Given the description of an element on the screen output the (x, y) to click on. 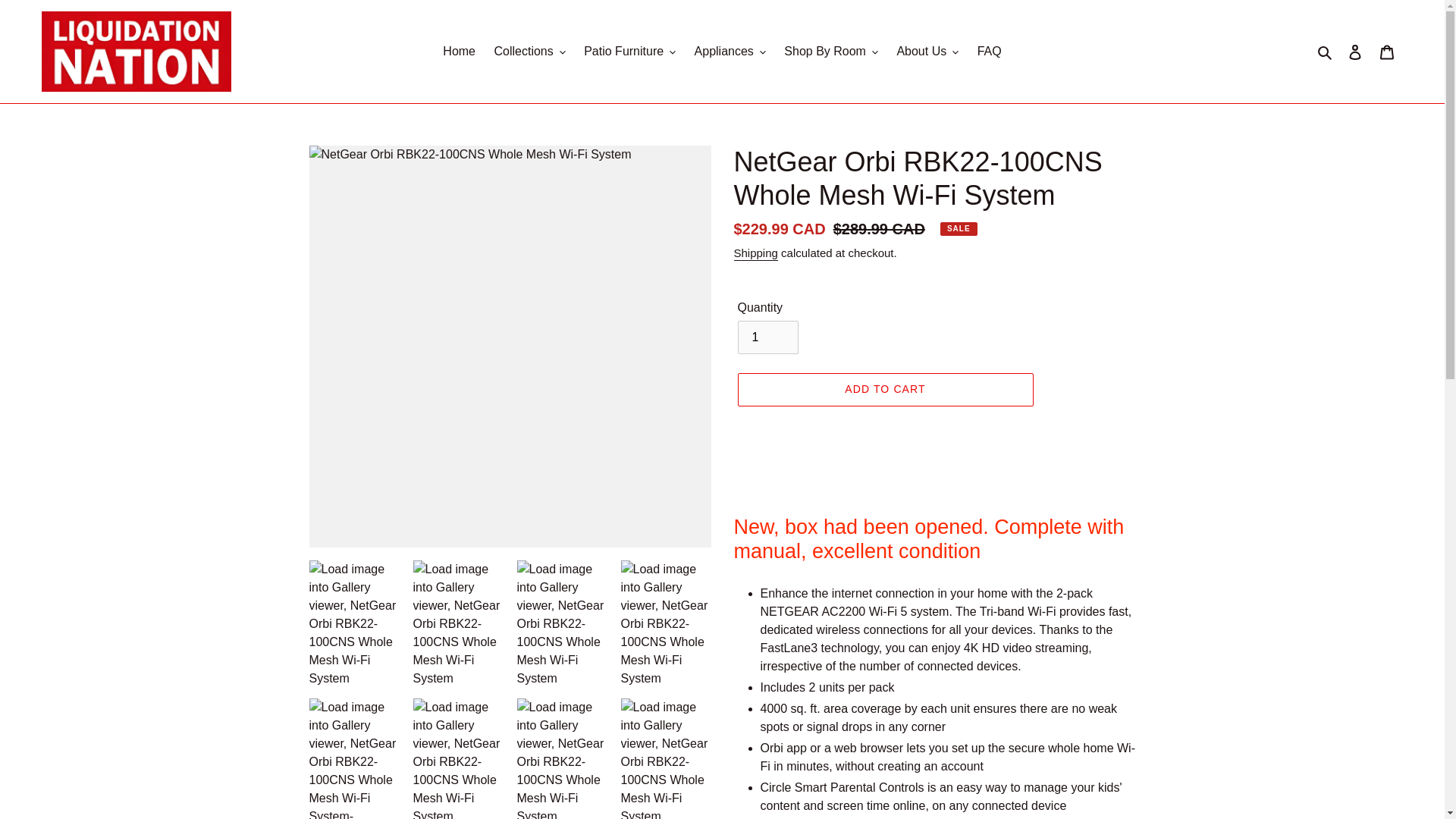
Home (459, 51)
Collections (529, 51)
1 (766, 337)
